Given the description of an element on the screen output the (x, y) to click on. 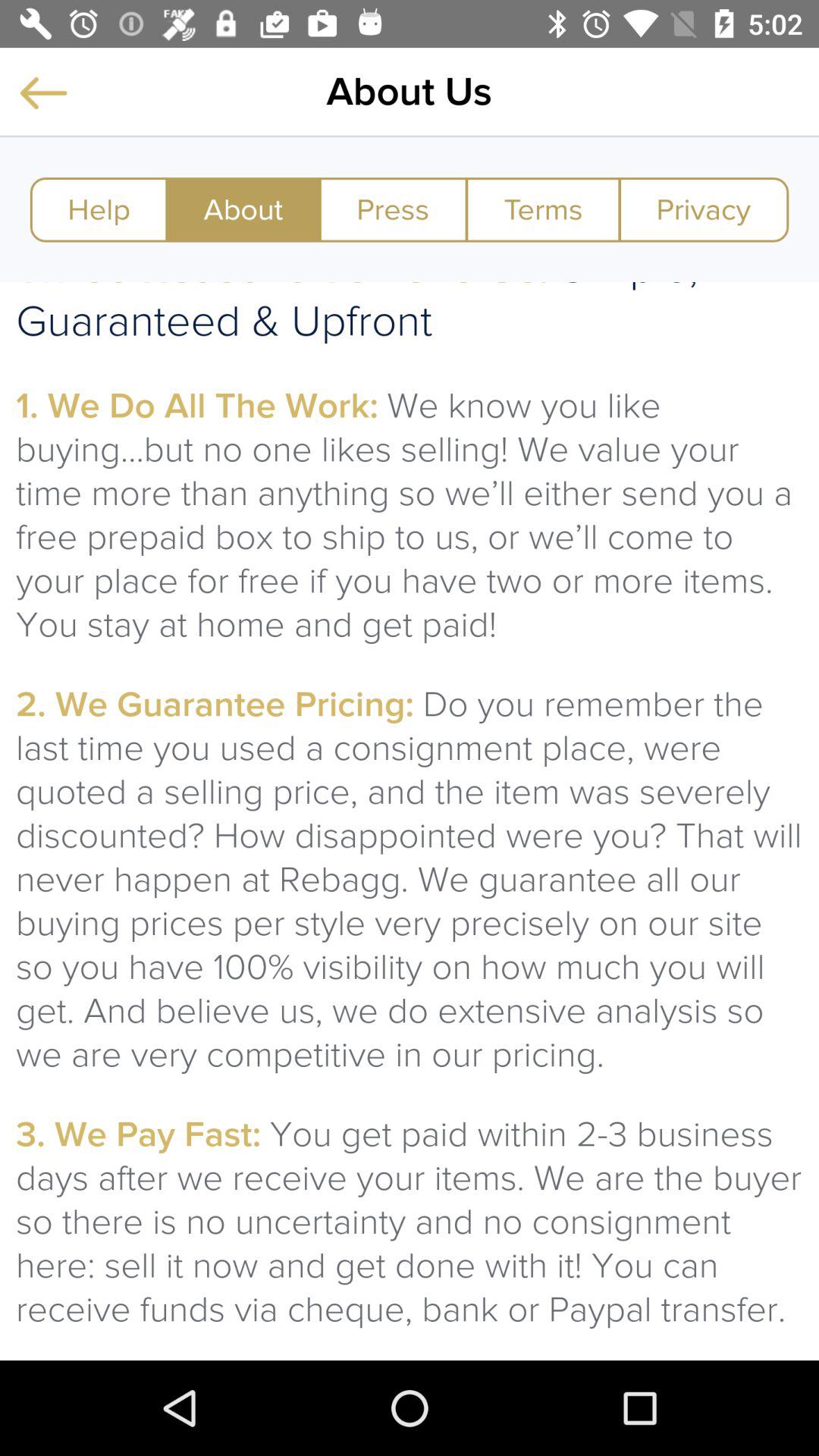
go back (43, 92)
